Given the description of an element on the screen output the (x, y) to click on. 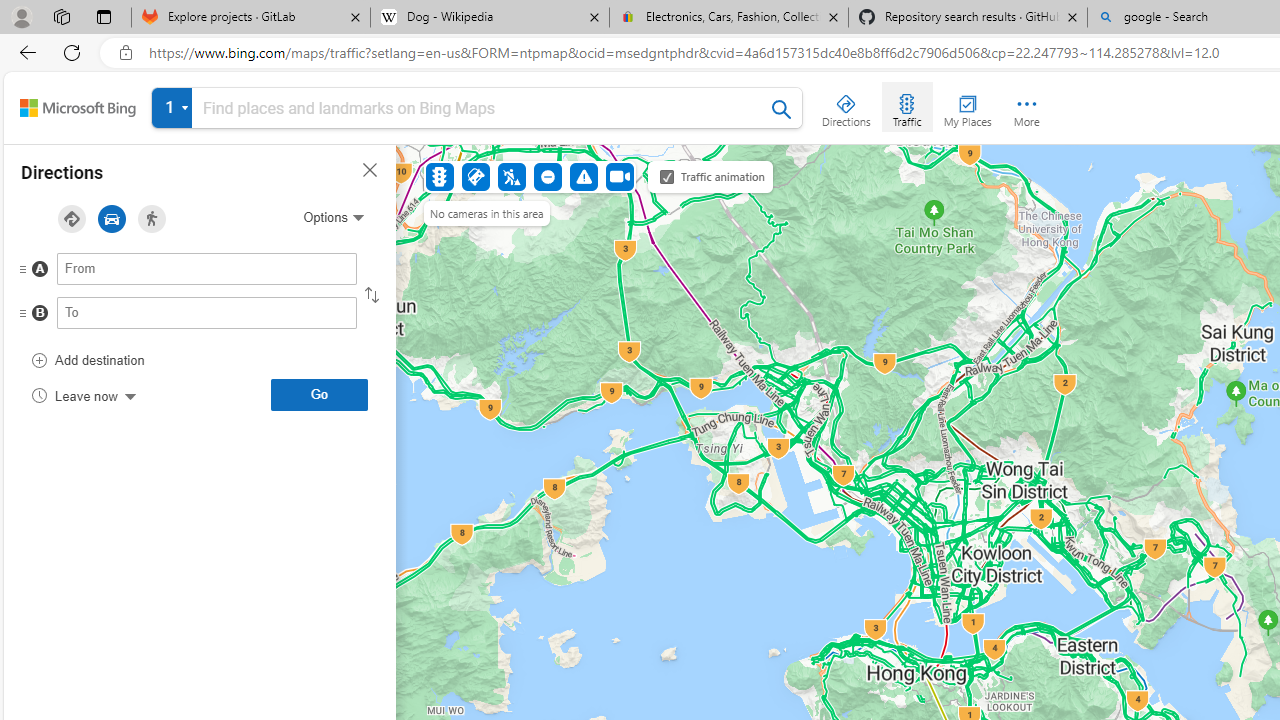
Personal Profile (21, 16)
Cameras (619, 176)
More (1026, 106)
Workspaces (61, 16)
 View all your searches (172, 107)
Traffic animation (667, 176)
Recommended (71, 219)
1 (477, 111)
Traffic (906, 106)
Traffic (440, 176)
Driving (111, 219)
Road Closures (547, 176)
Back to Bing search (77, 107)
Directions (846, 106)
